Given the description of an element on the screen output the (x, y) to click on. 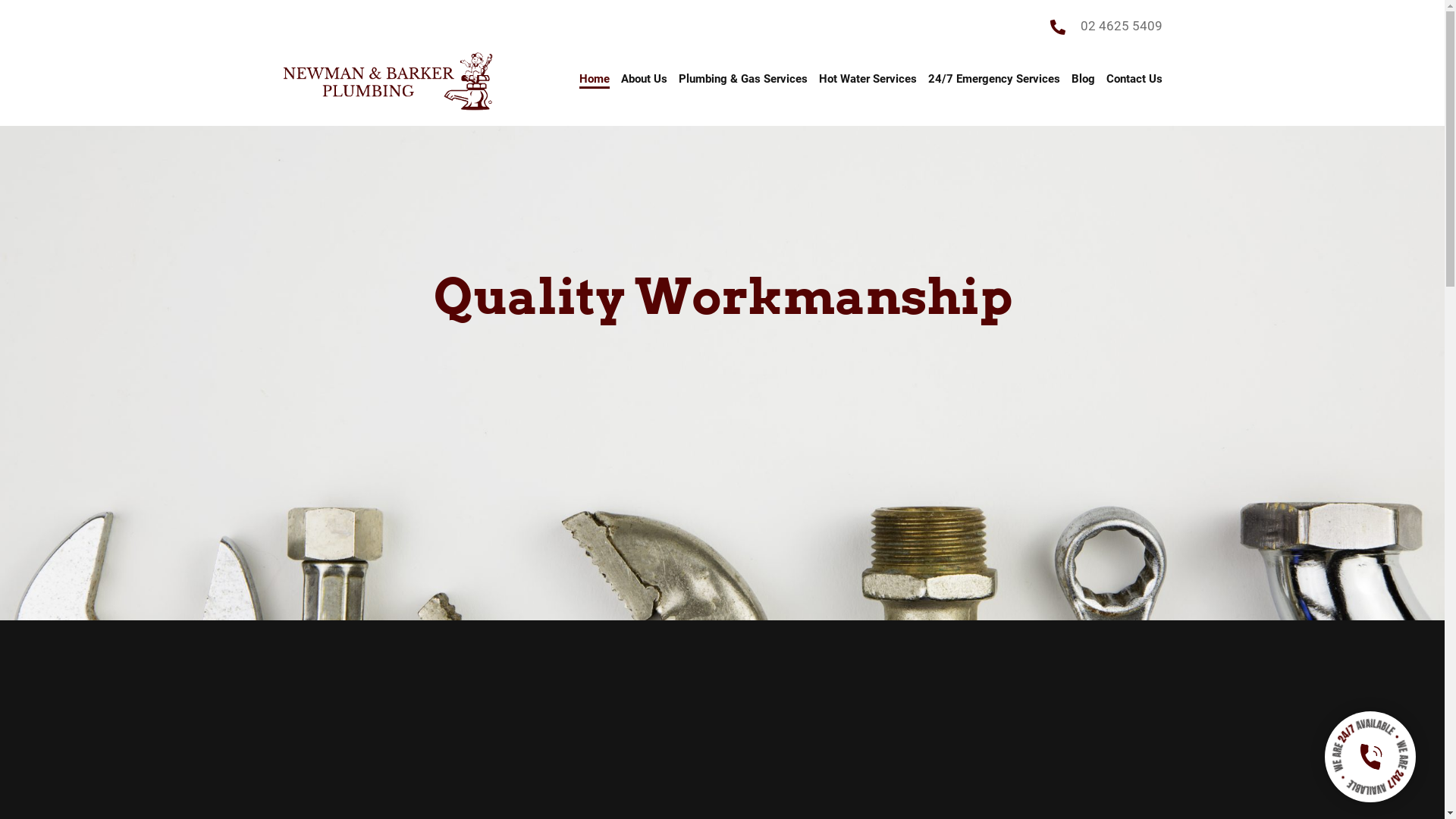
Home Element type: text (594, 80)
Plumbing & Gas Services Element type: text (742, 80)
About Us Element type: text (644, 80)
twenty-four-seven-1 Element type: hover (1360, 746)
Contact Us Element type: text (1134, 80)
24/7 Emergency Services Element type: text (994, 80)
Blog Element type: text (1083, 80)
Hot Water Services Element type: text (867, 80)
Newman-&-Barker-Plumbing-Logo Element type: hover (387, 81)
